Given the description of an element on the screen output the (x, y) to click on. 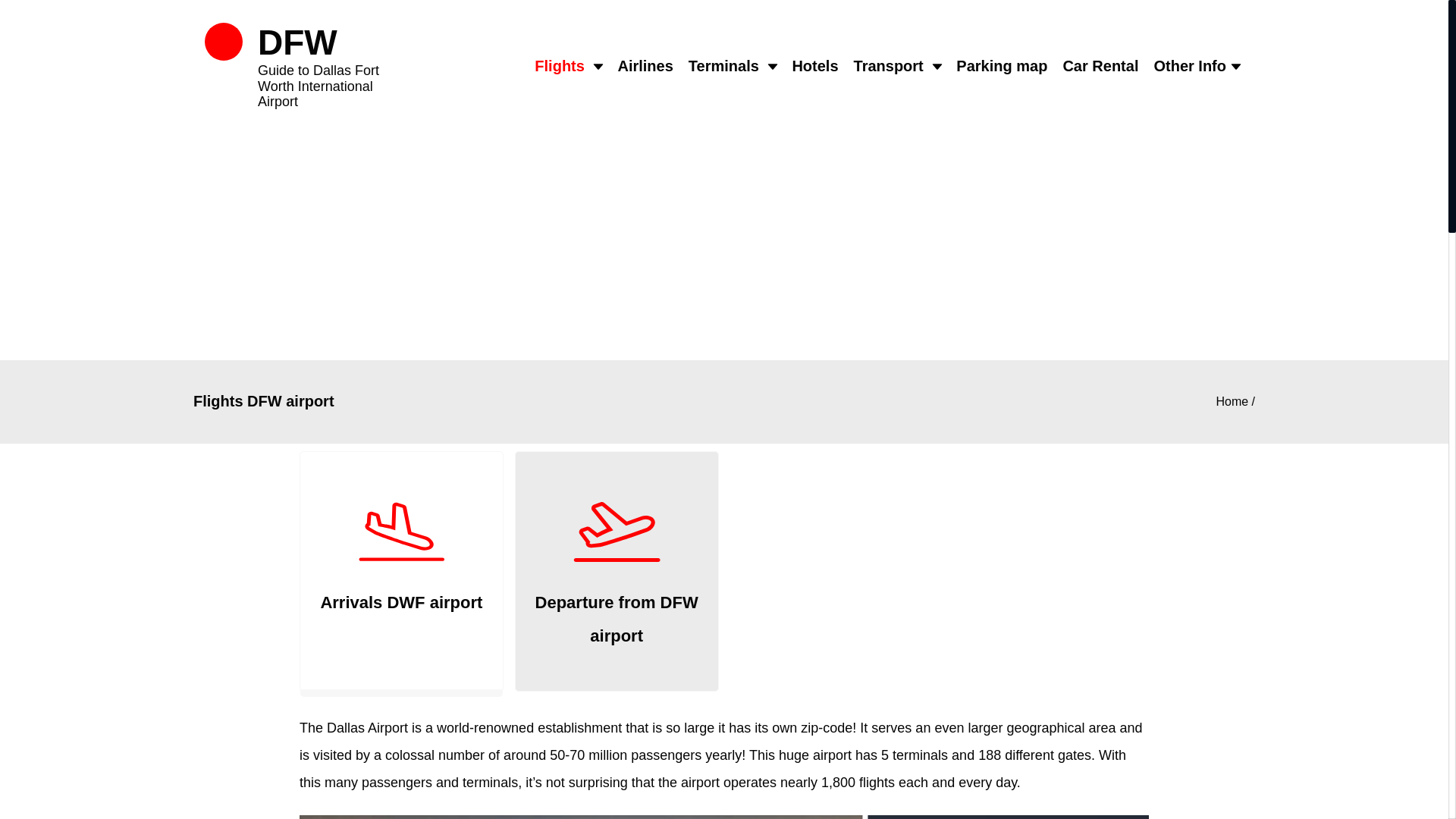
airport has 5 terminals and 188 different gates. (953, 755)
Car Rental (1100, 66)
Terminals (723, 66)
Other Info (1189, 66)
Transport (888, 66)
Flights (559, 66)
Parking map (1001, 66)
Hotels (815, 66)
Home (1231, 401)
Airlines (644, 66)
DFW (297, 42)
